Given the description of an element on the screen output the (x, y) to click on. 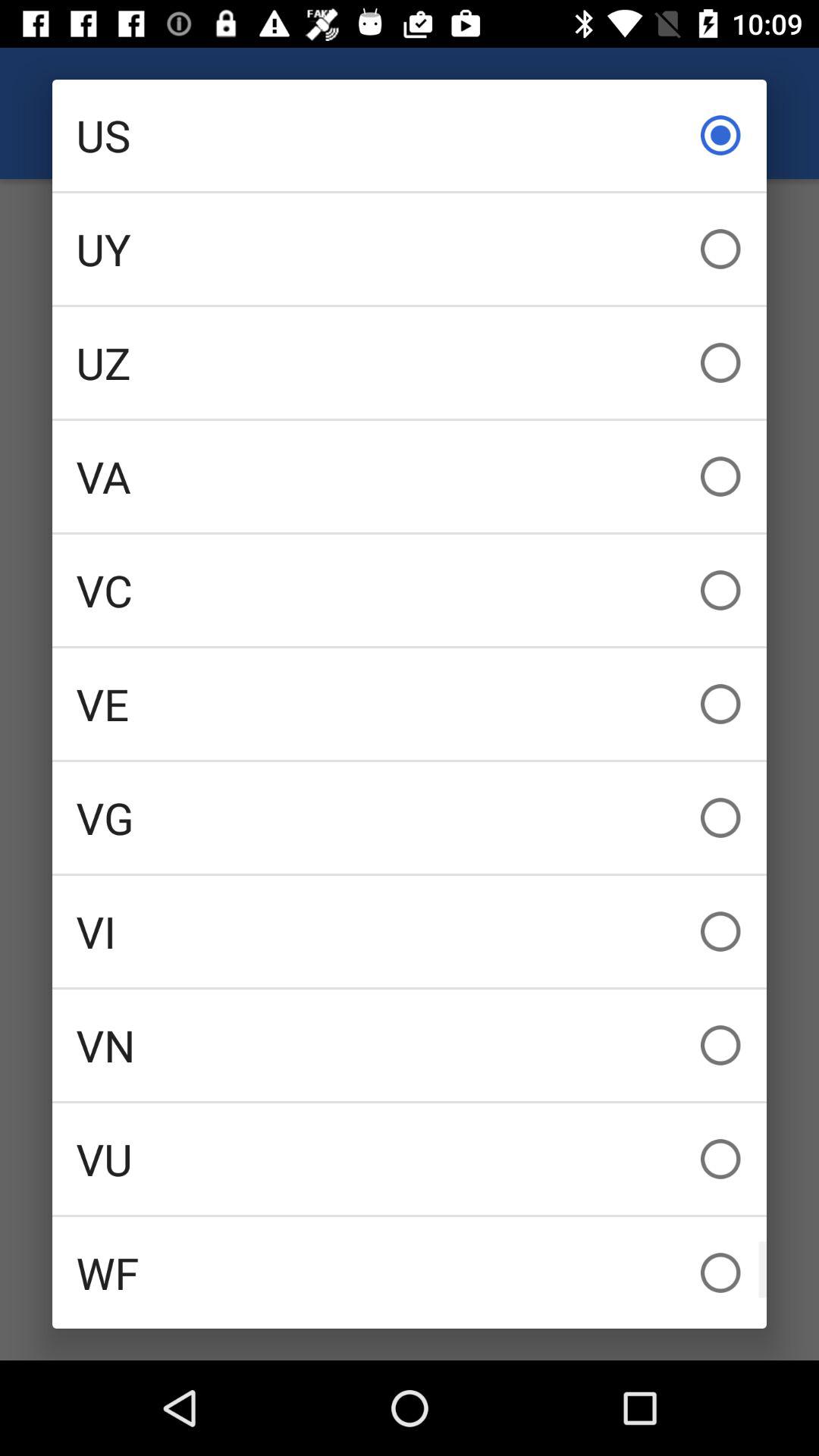
launch item above uy item (409, 135)
